Given the description of an element on the screen output the (x, y) to click on. 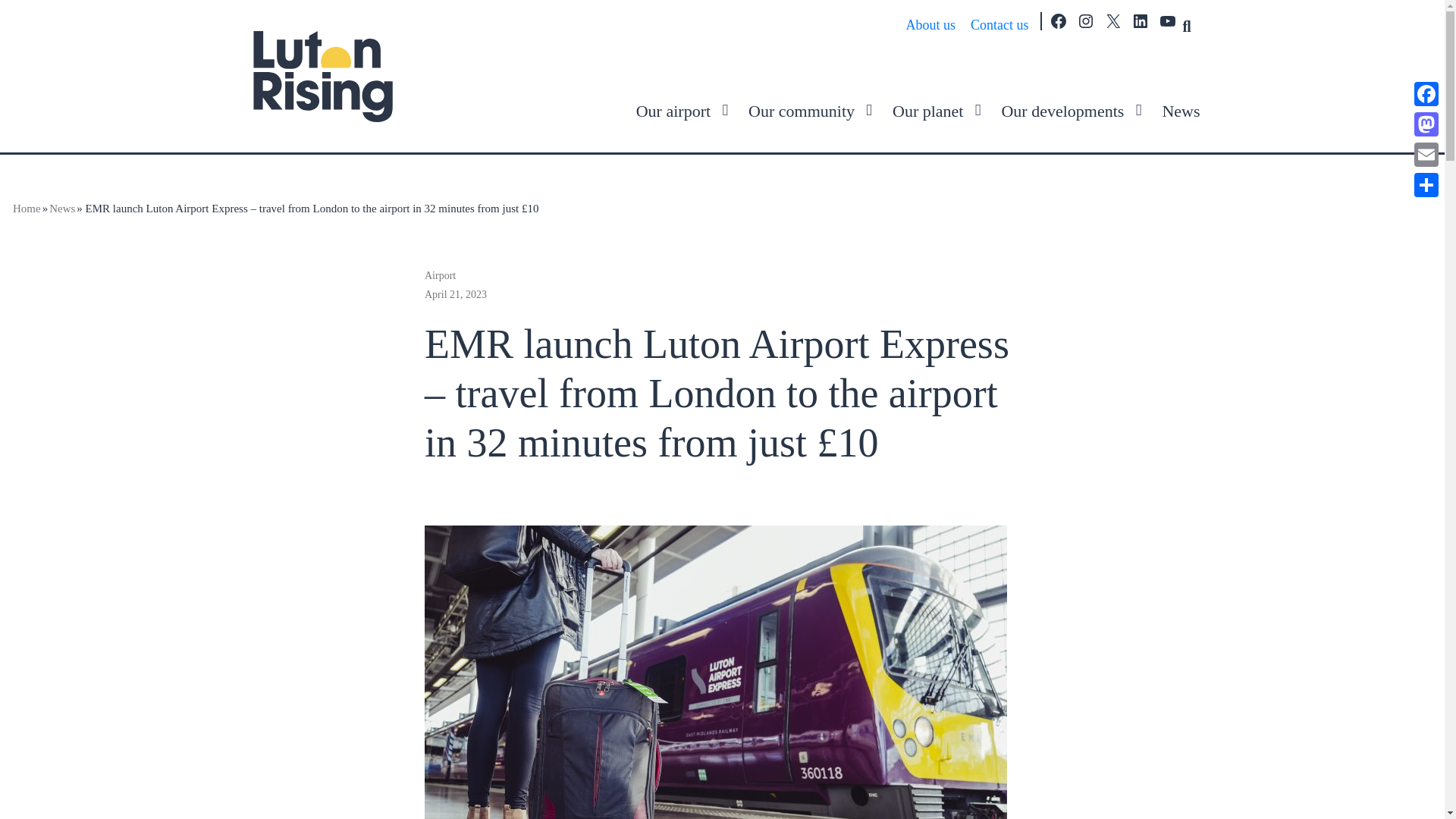
Our airport (672, 110)
YouTube (1167, 21)
X (1112, 21)
Our community (801, 110)
Contact us (1000, 24)
Home (26, 208)
Our developments (1061, 110)
Our community (801, 110)
Our planet (927, 110)
LinkedIn (1140, 21)
